Given the description of an element on the screen output the (x, y) to click on. 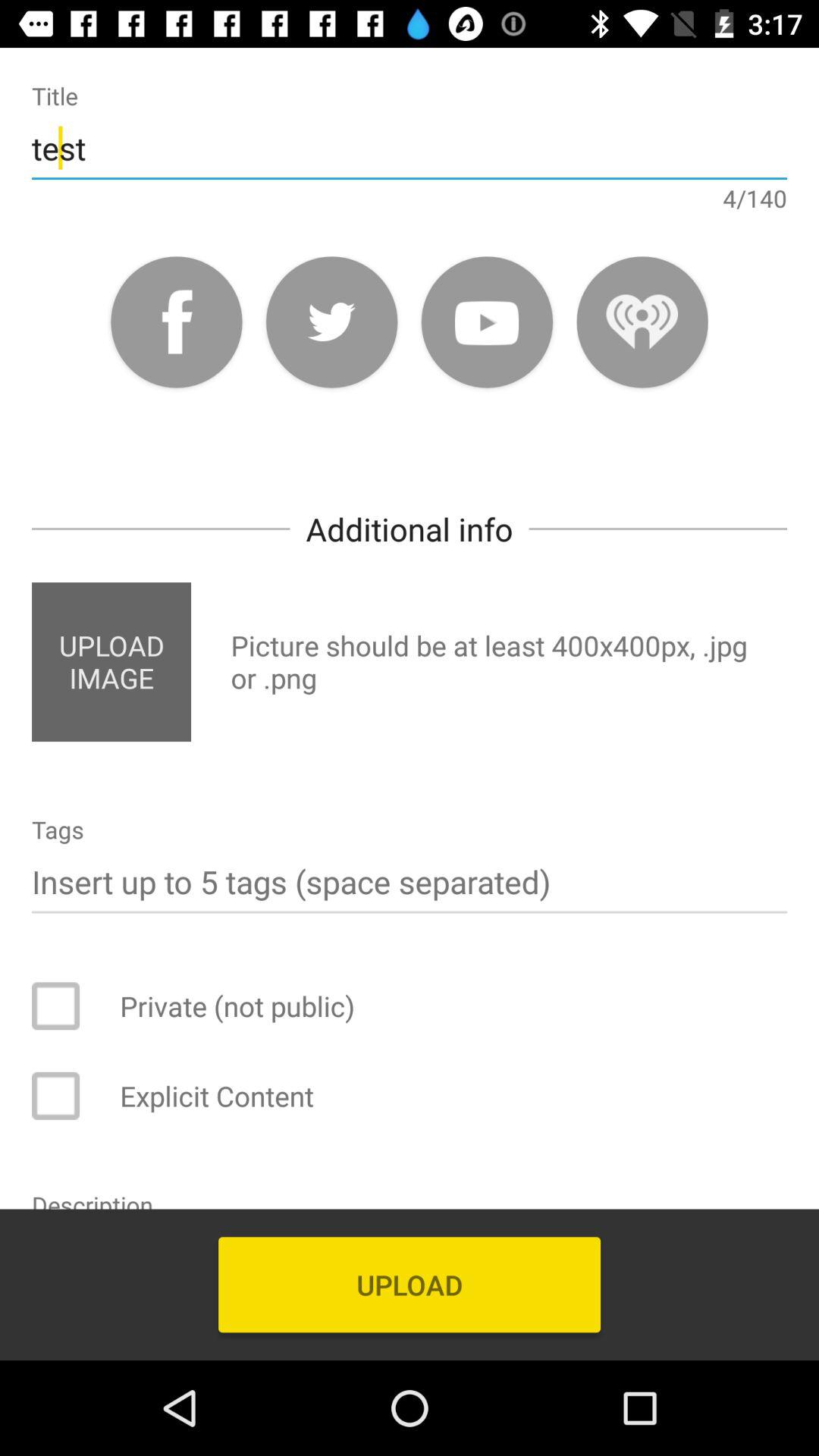
add youtube link (486, 321)
